Given the description of an element on the screen output the (x, y) to click on. 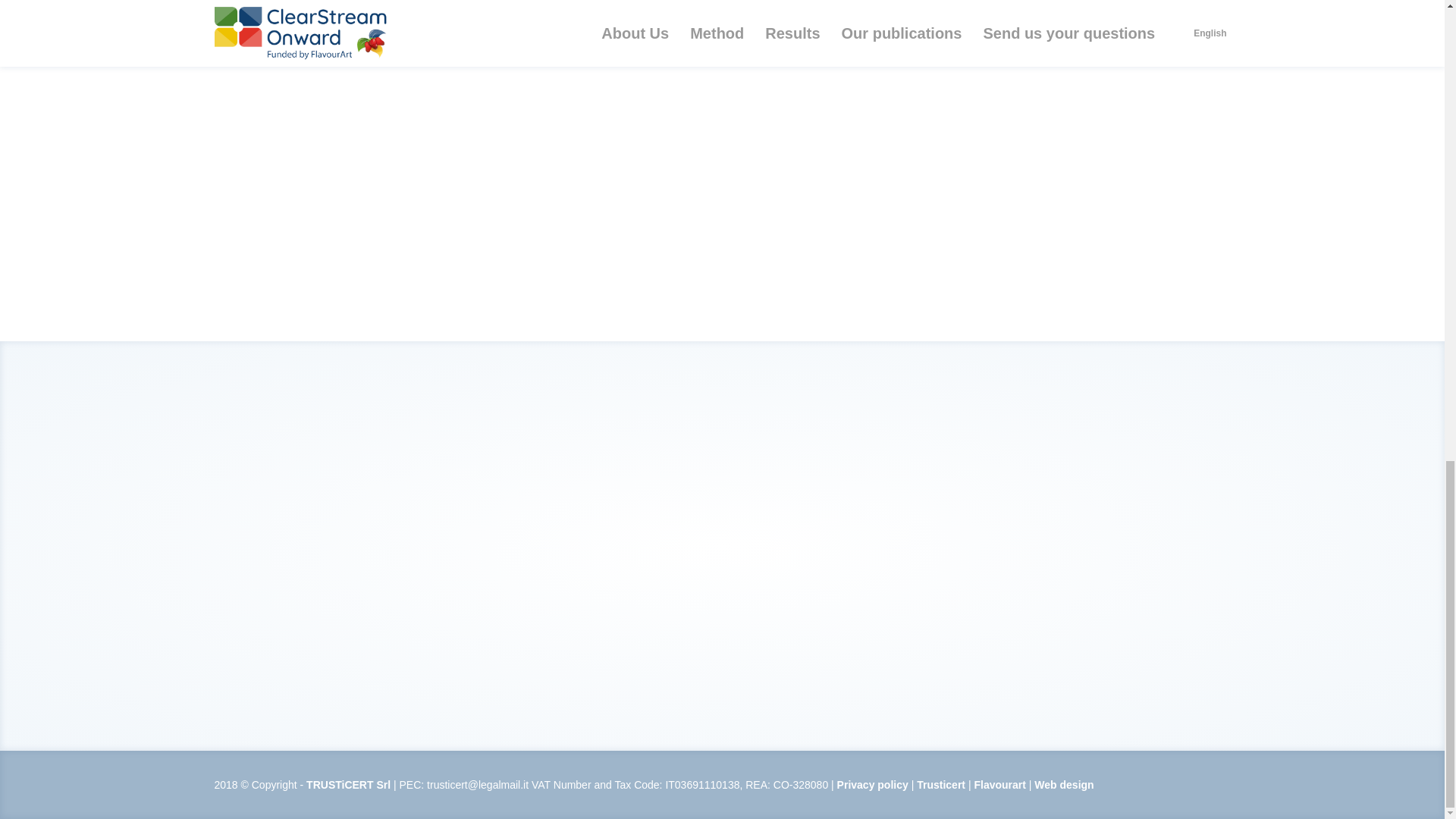
FlavourArt (999, 784)
Privacy policy (872, 784)
Flavourart (999, 784)
Trusticert (941, 784)
TRUSTiCERT Srl (941, 784)
Web design (1063, 784)
